Given the description of an element on the screen output the (x, y) to click on. 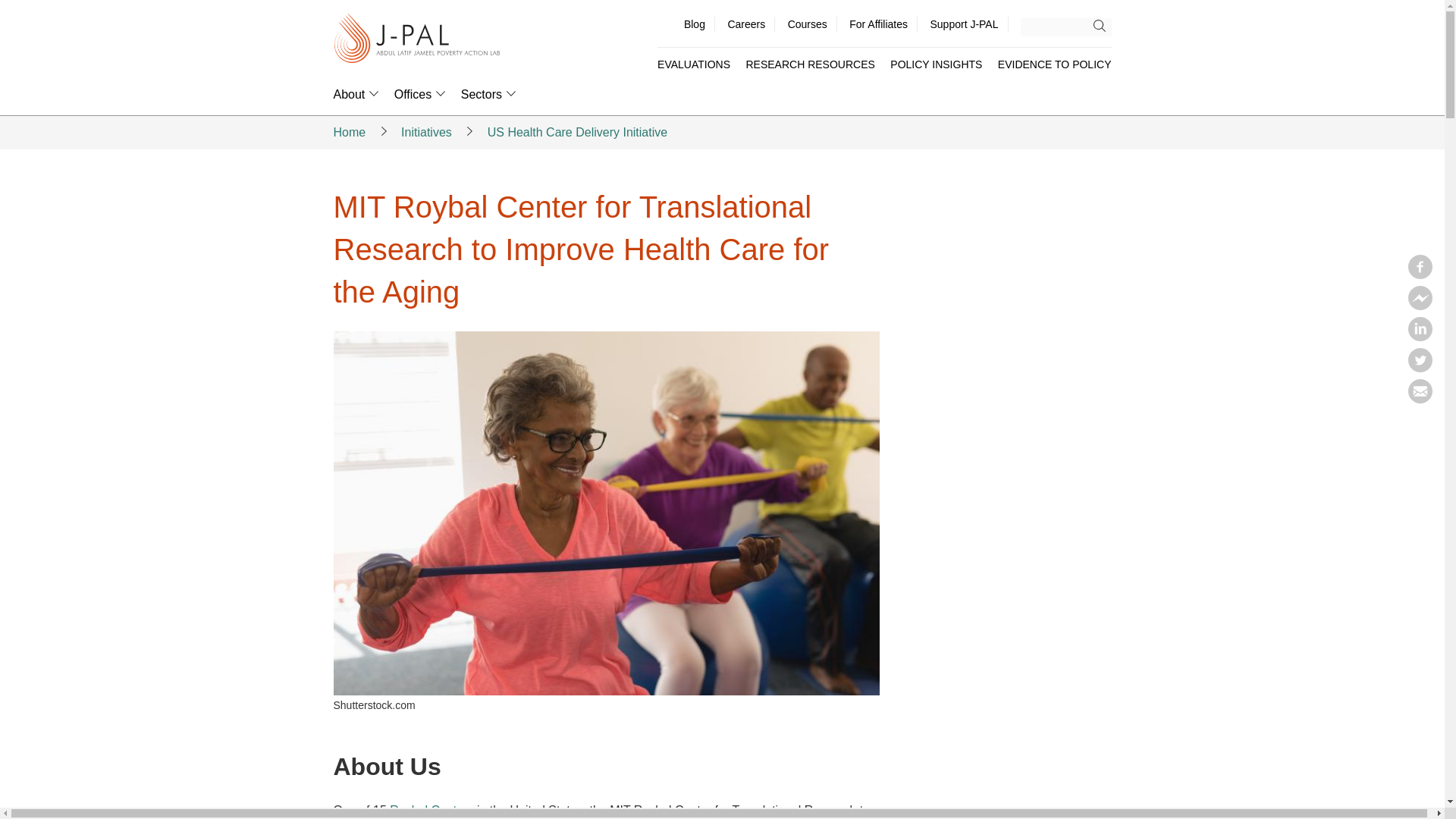
Facebook messenger (1419, 305)
Linkedin (1419, 336)
Email (1419, 399)
Search (1102, 25)
Twitter (1419, 367)
J-PAL (416, 39)
Facebook (1419, 274)
